Given the description of an element on the screen output the (x, y) to click on. 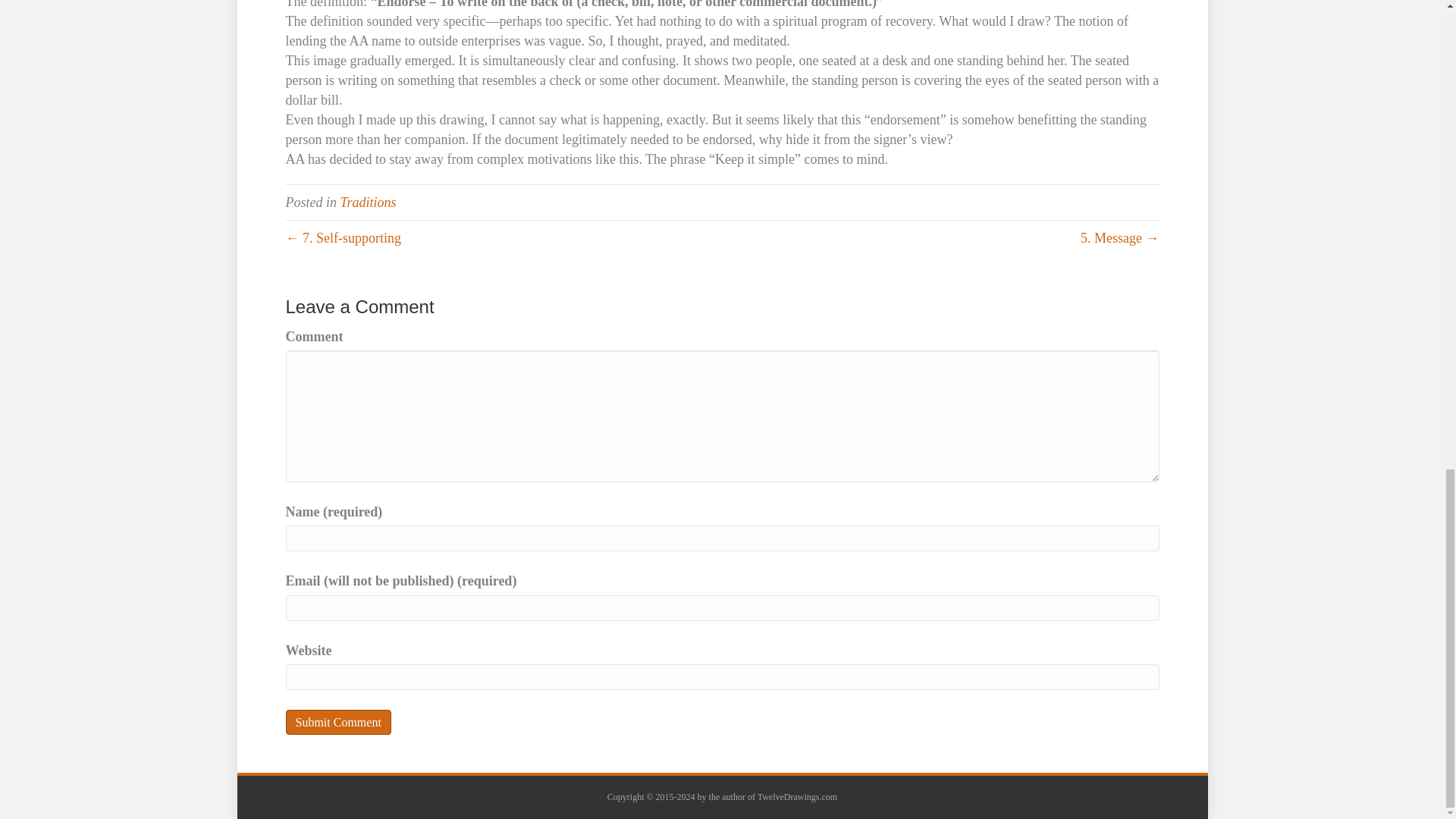
Submit Comment (337, 722)
Traditions (367, 201)
Submit Comment (337, 722)
